Given the description of an element on the screen output the (x, y) to click on. 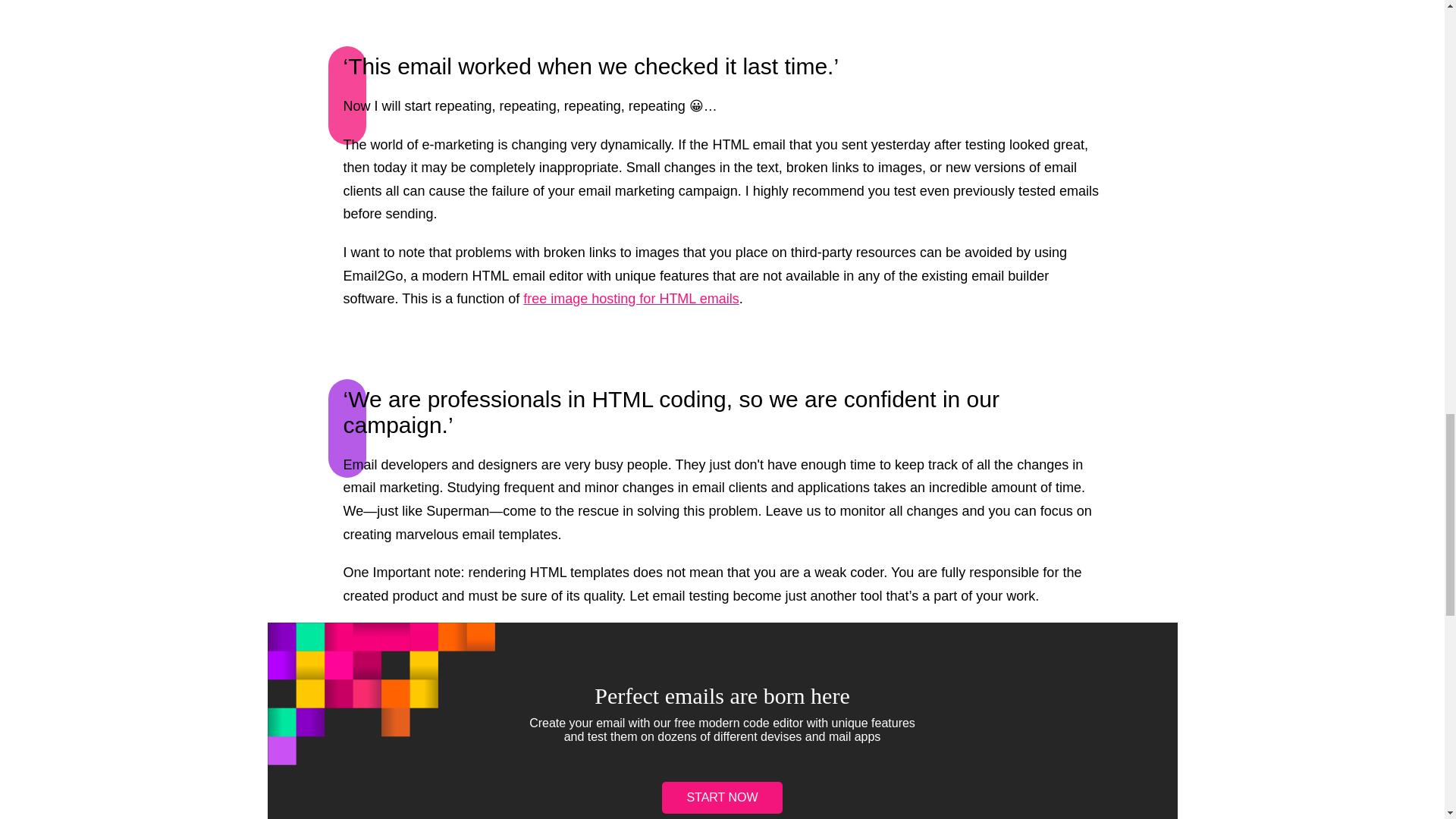
free image hosting for HTML emails (630, 298)
START NOW (721, 798)
